Given the description of an element on the screen output the (x, y) to click on. 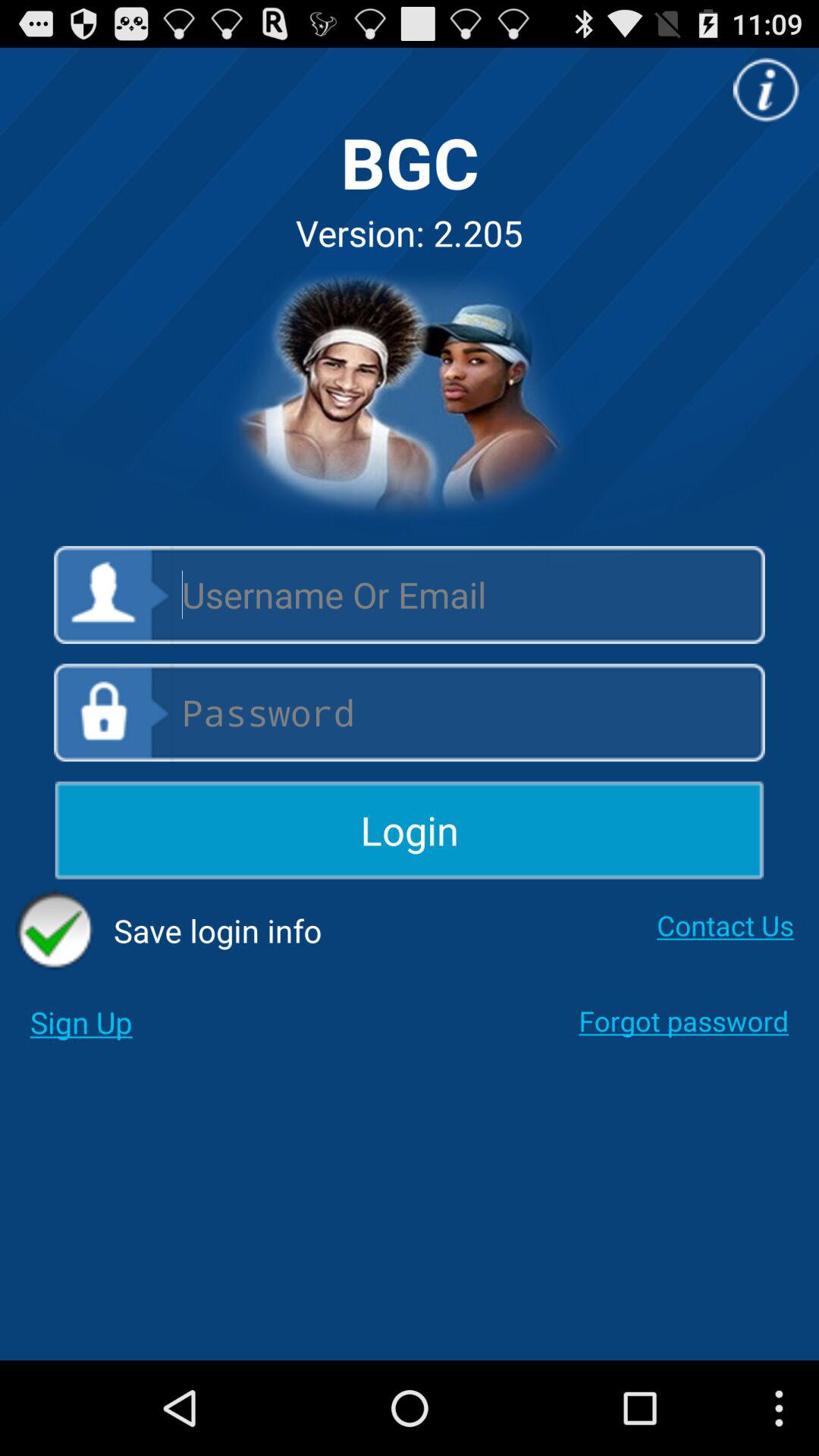
turn on the item above the sign up (168, 930)
